Given the description of an element on the screen output the (x, y) to click on. 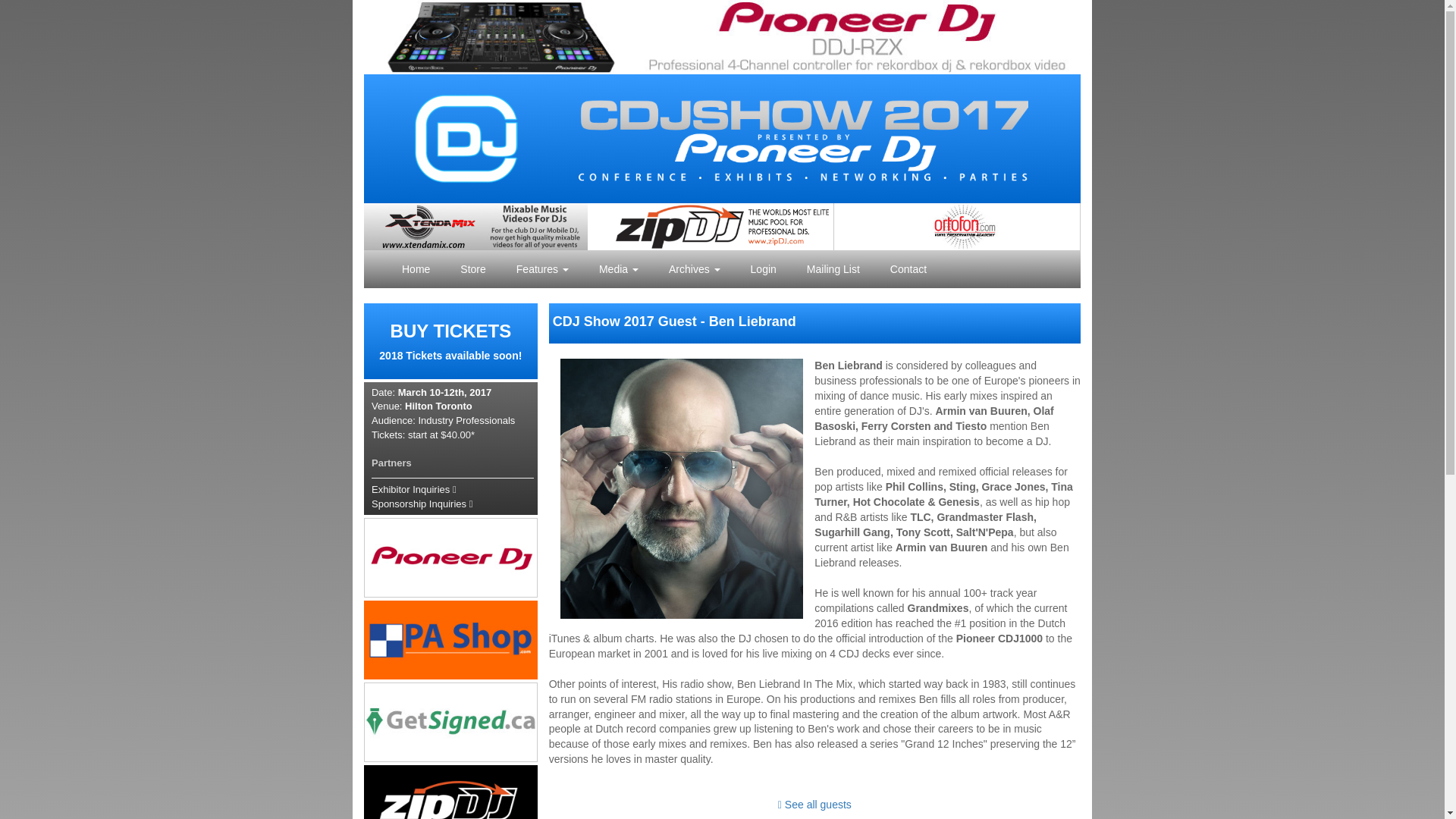
Media (450, 341)
Login (618, 269)
Exhibitor Inquiries (763, 269)
Features (414, 489)
Contact (541, 269)
Home (908, 269)
Store (416, 269)
Archives (472, 269)
Sponsorship Inquiries (694, 269)
Mailing List (421, 503)
